Given the description of an element on the screen output the (x, y) to click on. 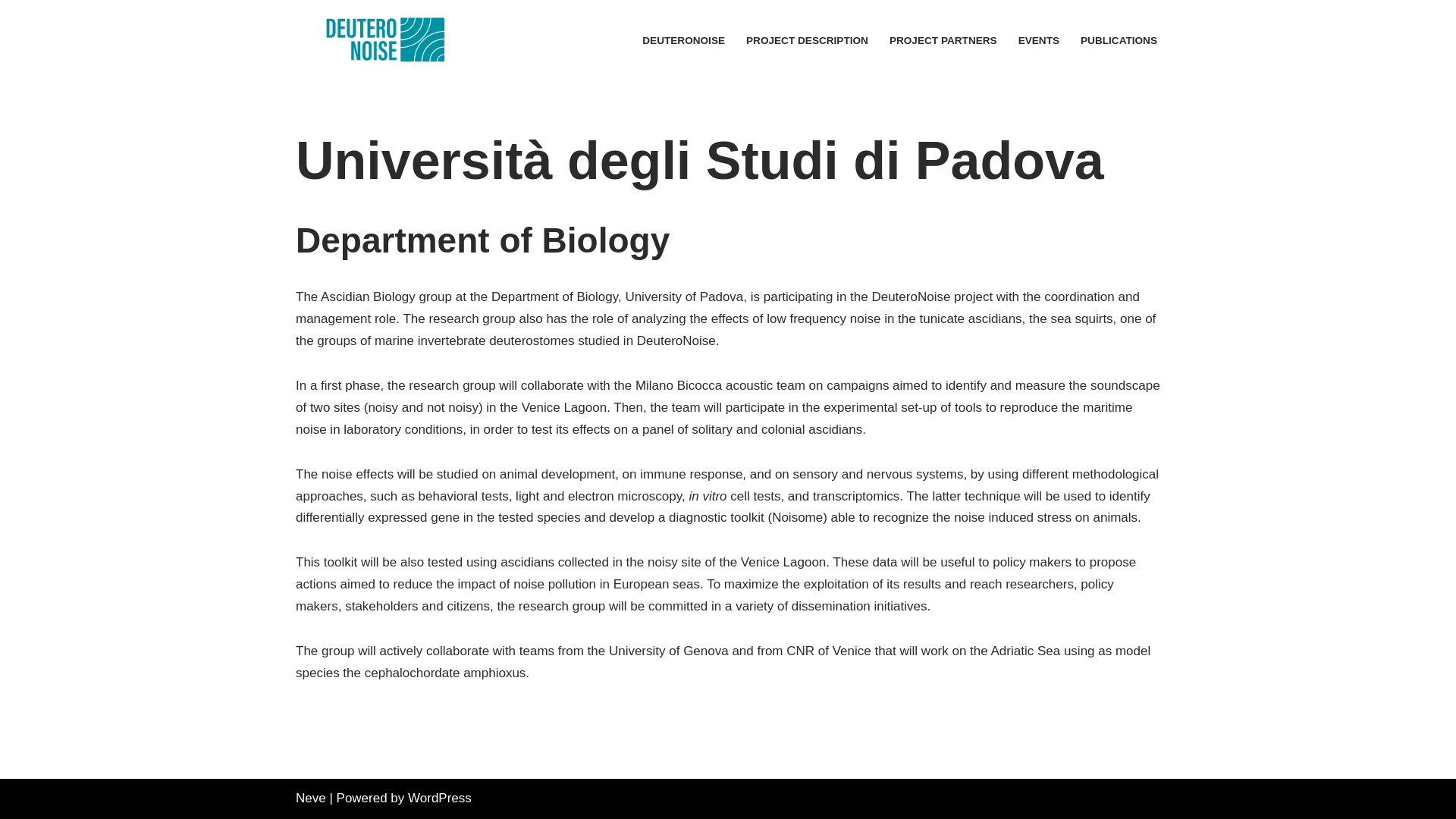
EVENTS (1038, 40)
Neve (310, 798)
PROJECT DESCRIPTION (806, 40)
PROJECT PARTNERS (943, 40)
WordPress (439, 798)
PUBLICATIONS (1118, 40)
Skip to content (11, 31)
DEUTERONOISE (683, 40)
